Given the description of an element on the screen output the (x, y) to click on. 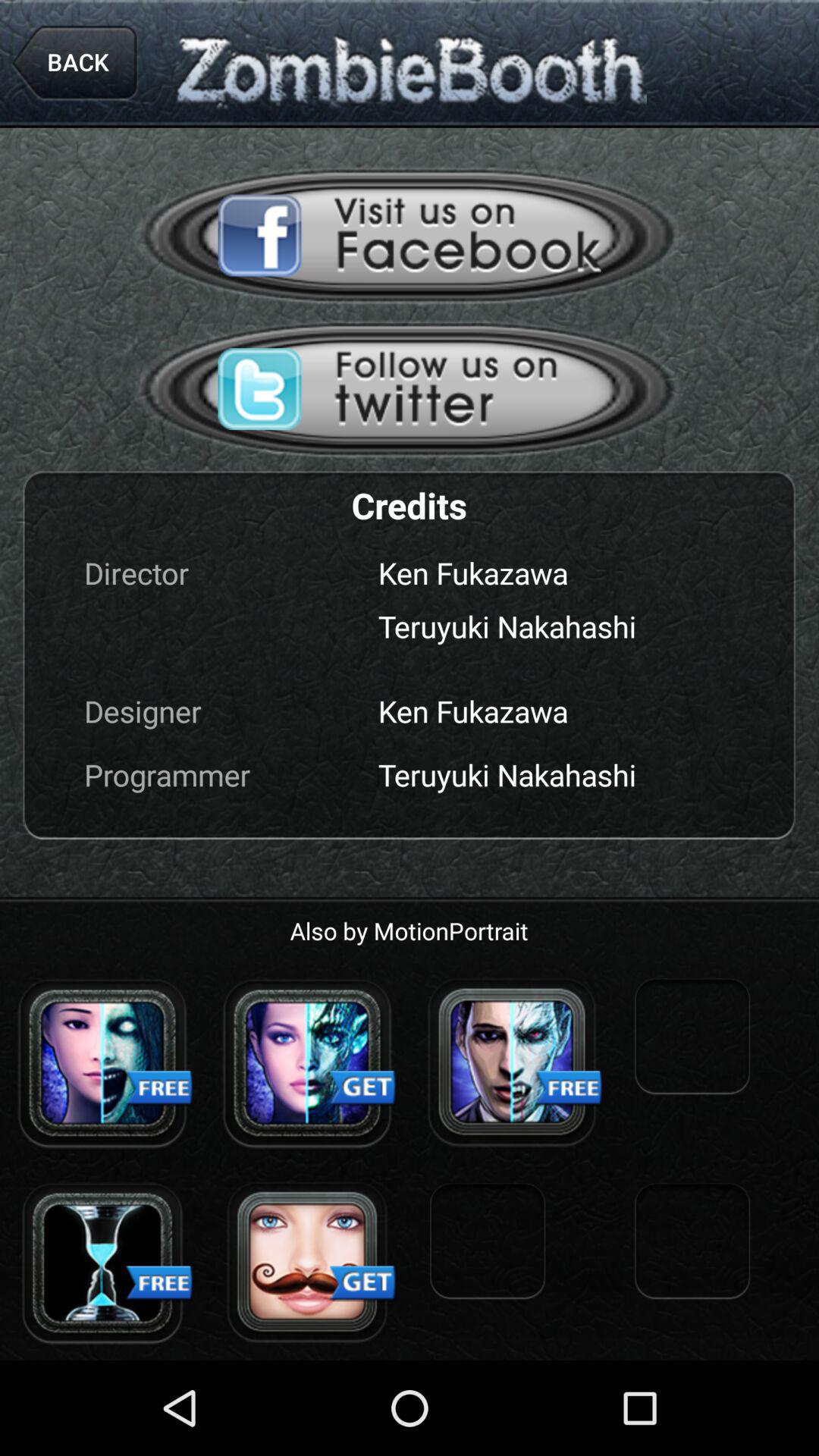
open app details (102, 1262)
